Given the description of an element on the screen output the (x, y) to click on. 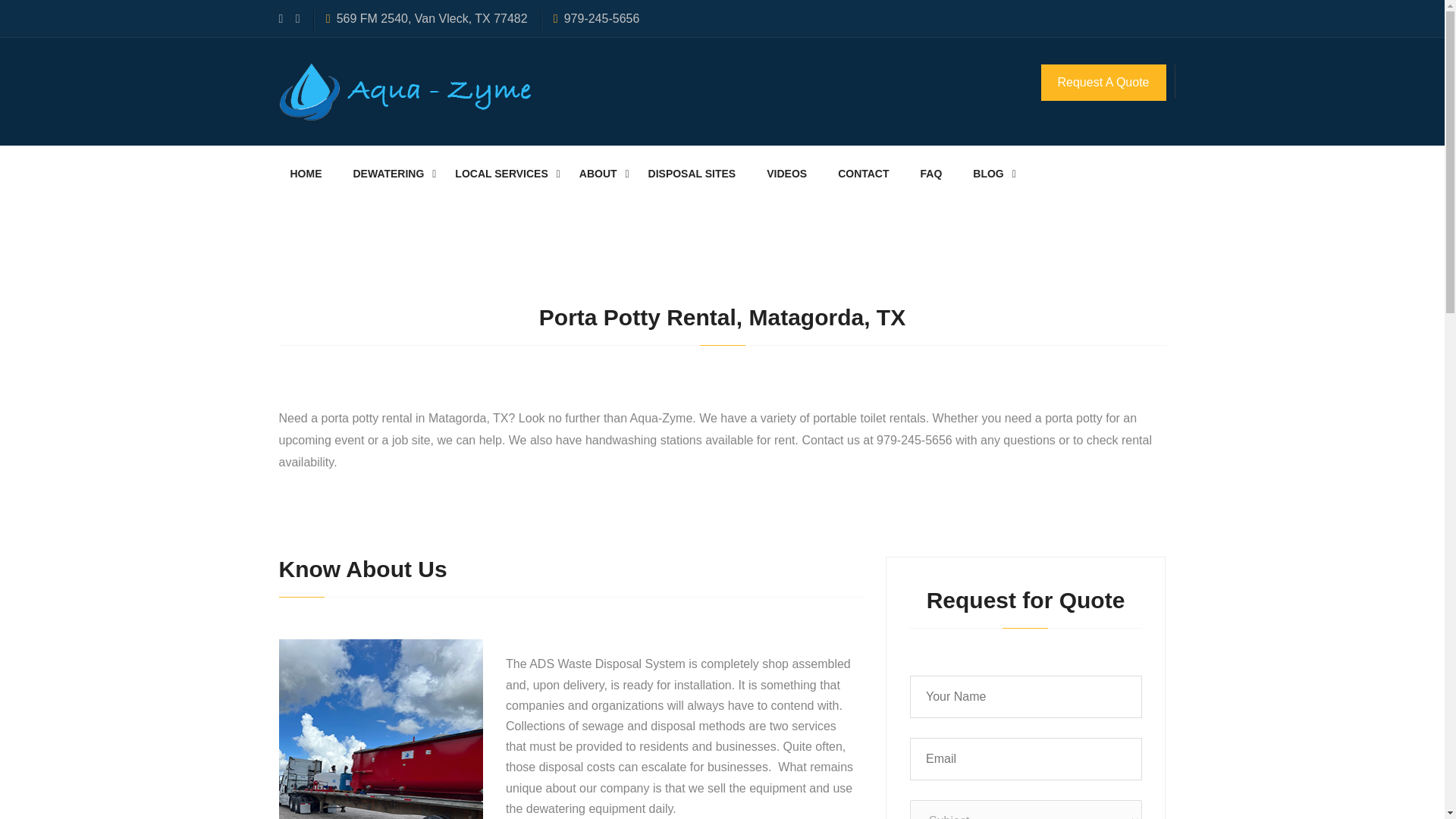
quote (1024, 744)
DEWATERING (392, 174)
Request A Quote (1103, 82)
HOME (310, 174)
ABOUT (602, 174)
FAQ (935, 174)
BLOG (991, 174)
VIDEOS (791, 174)
CONTACT (867, 174)
LOCAL SERVICES (505, 174)
